Given the description of an element on the screen output the (x, y) to click on. 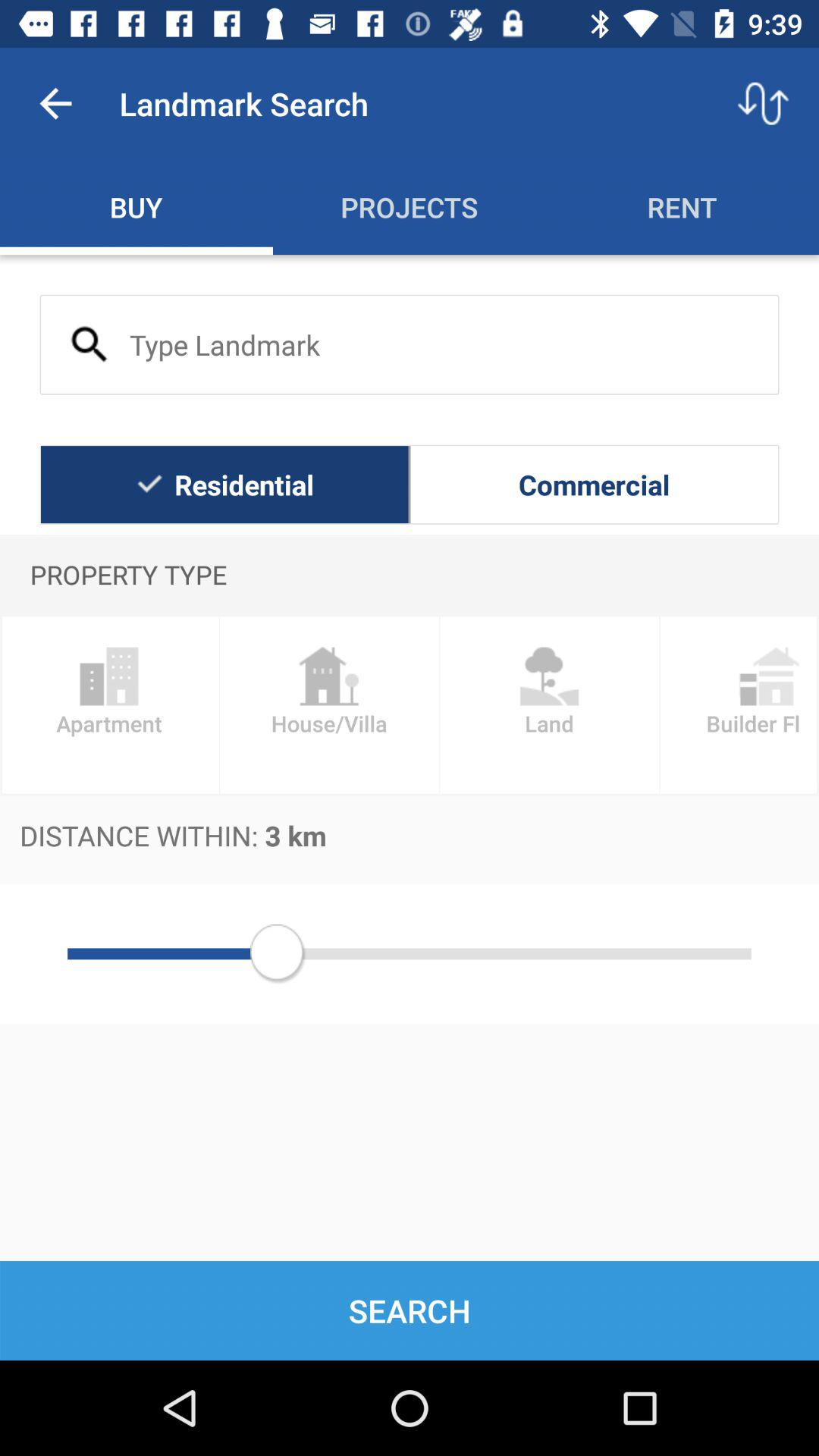
launch the item above the distance within 3 icon (109, 704)
